Given the description of an element on the screen output the (x, y) to click on. 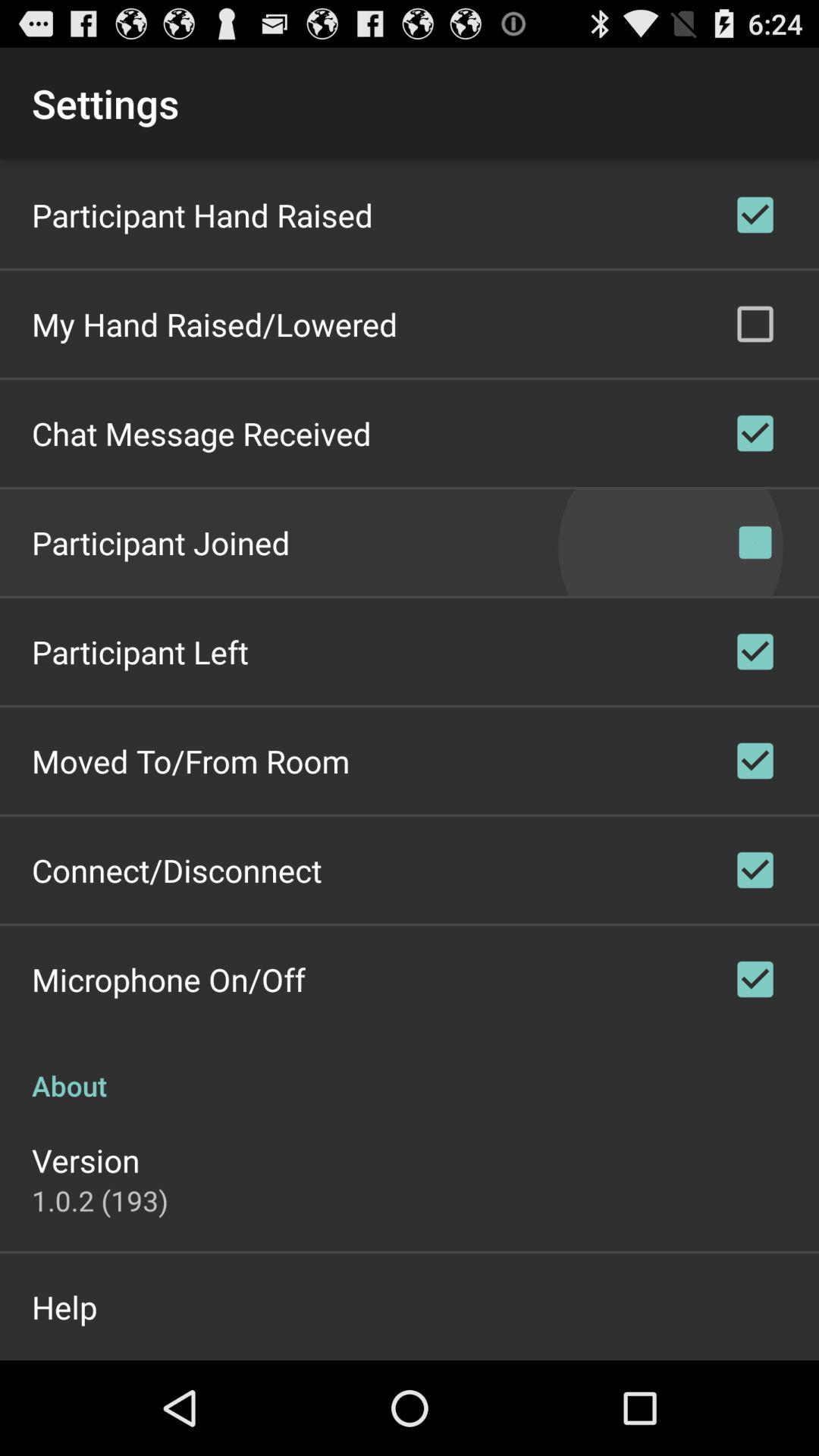
open moved to from app (190, 760)
